Given the description of an element on the screen output the (x, y) to click on. 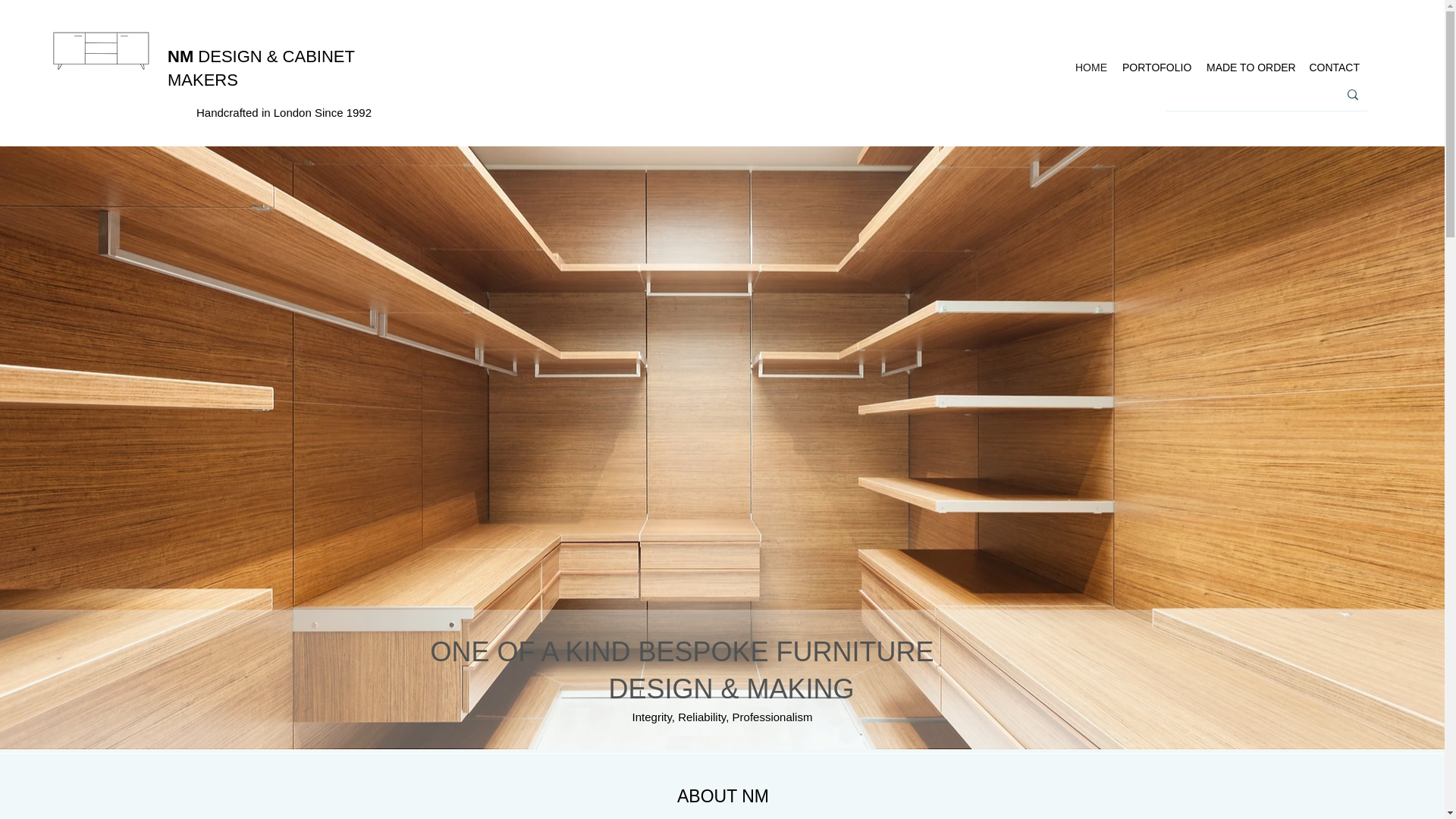
PORTOFOLIO (1156, 67)
CONTACT (1333, 67)
HOME (1091, 67)
Handcrafted in London Since 1992 (283, 112)
MADE TO ORDER (1249, 67)
